Given the description of an element on the screen output the (x, y) to click on. 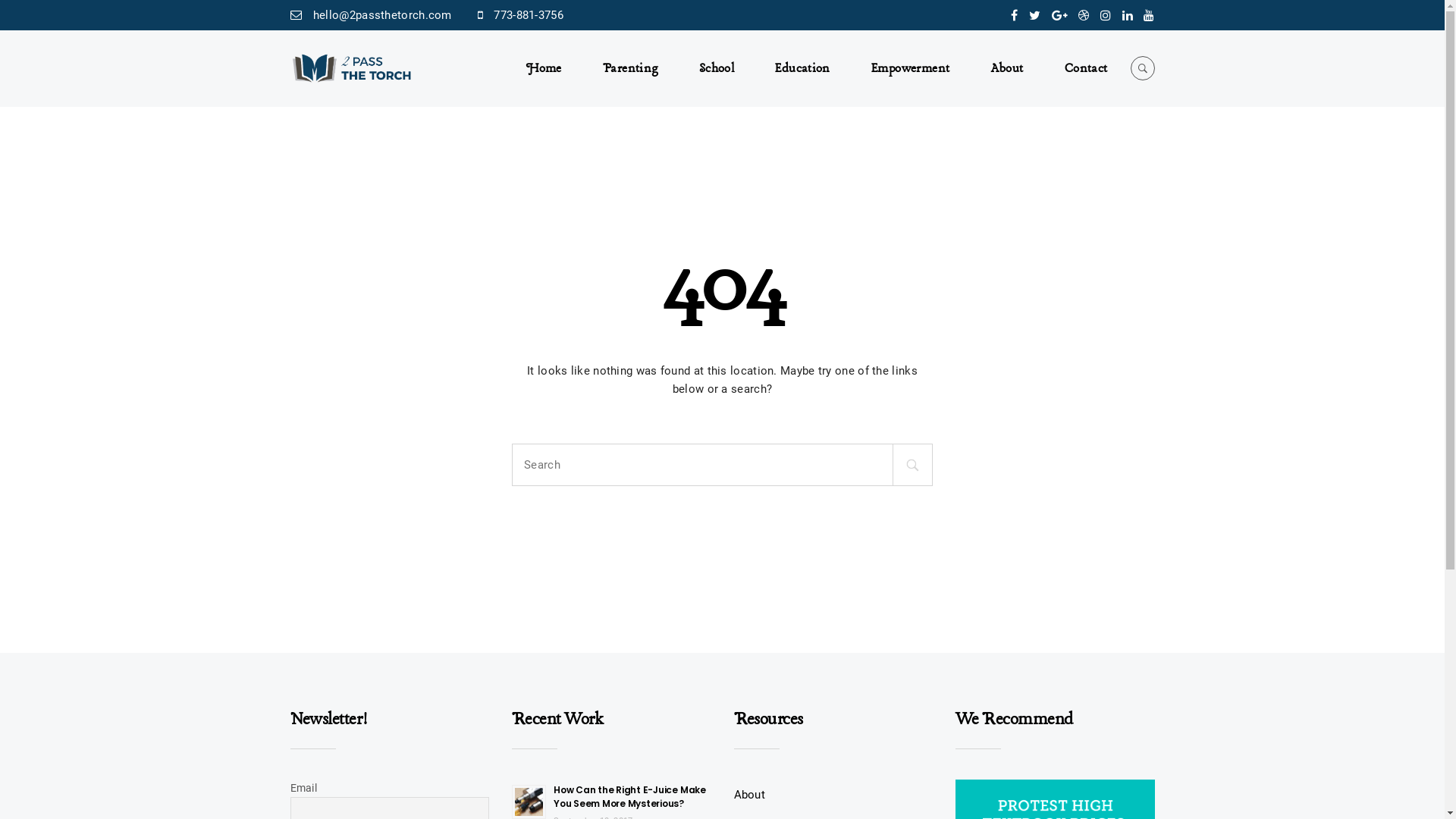
About Element type: text (1007, 68)
Parenting Element type: text (629, 68)
Empowerment Element type: text (910, 68)
How Can the Right E-Juice Make You Seem More Mysterious? Element type: text (629, 796)
Home Element type: text (553, 68)
Search for: Element type: hover (595, 464)
Contact Element type: text (1081, 68)
About Element type: text (749, 794)
School Element type: text (716, 68)
Education Element type: text (802, 68)
